Given the description of an element on the screen output the (x, y) to click on. 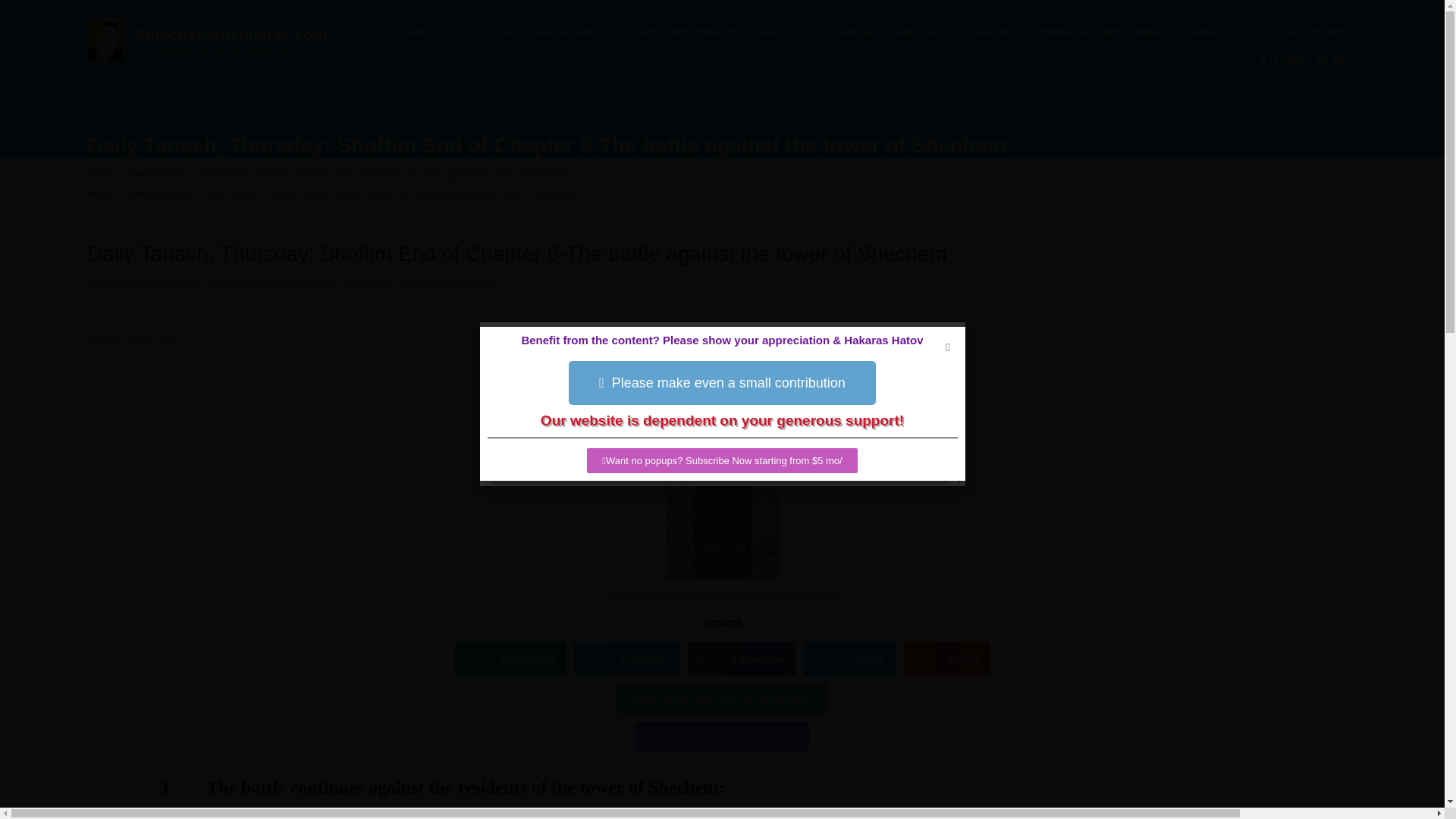
View all posts in Daily Learning (158, 193)
View all posts in Daily Tanach (154, 173)
Posts by Rabbi Yaakov Goldstein (277, 283)
Start shopping (1298, 60)
ARTICLES (440, 31)
Shulchanaruchharav.com (206, 62)
